Given the description of an element on the screen output the (x, y) to click on. 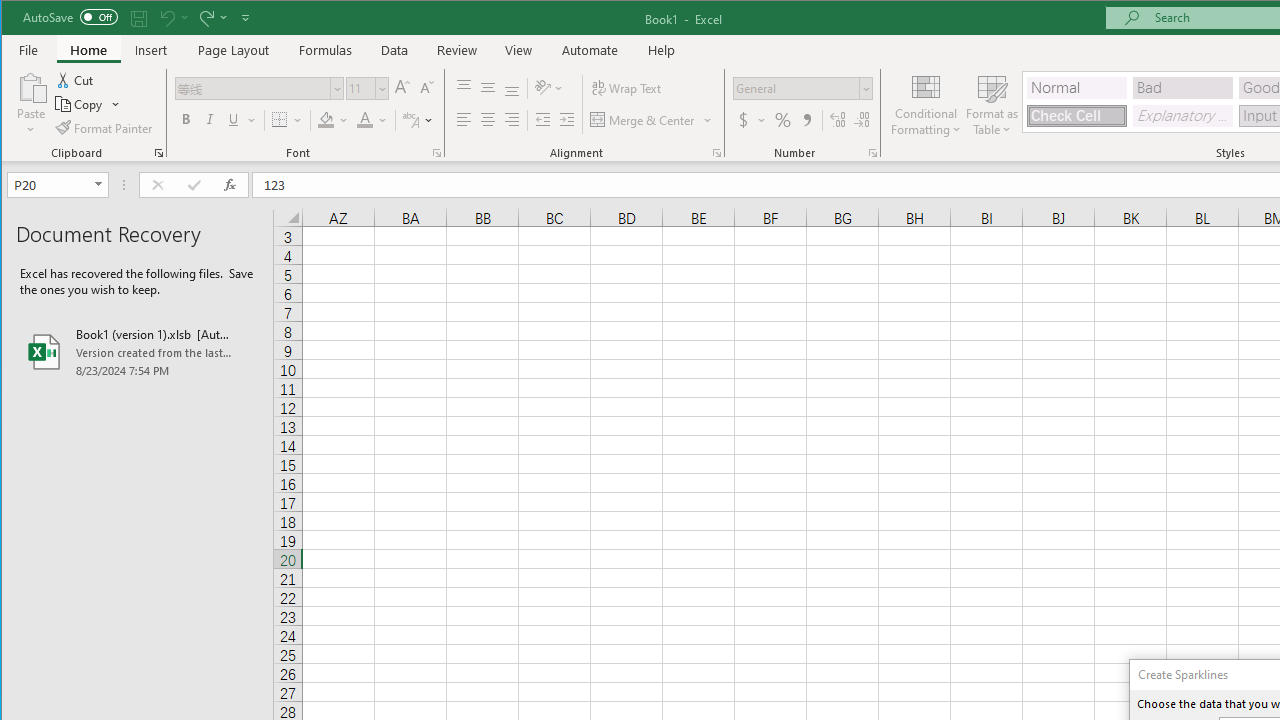
Orientation (550, 88)
Format Cell Font (436, 152)
Wrap Text (627, 88)
Number Format (802, 88)
Show Phonetic Field (417, 119)
Percent Style (782, 119)
Italic (209, 119)
Fill Color RGB(255, 255, 0) (325, 119)
Font Size (367, 88)
Align Left (463, 119)
